Given the description of an element on the screen output the (x, y) to click on. 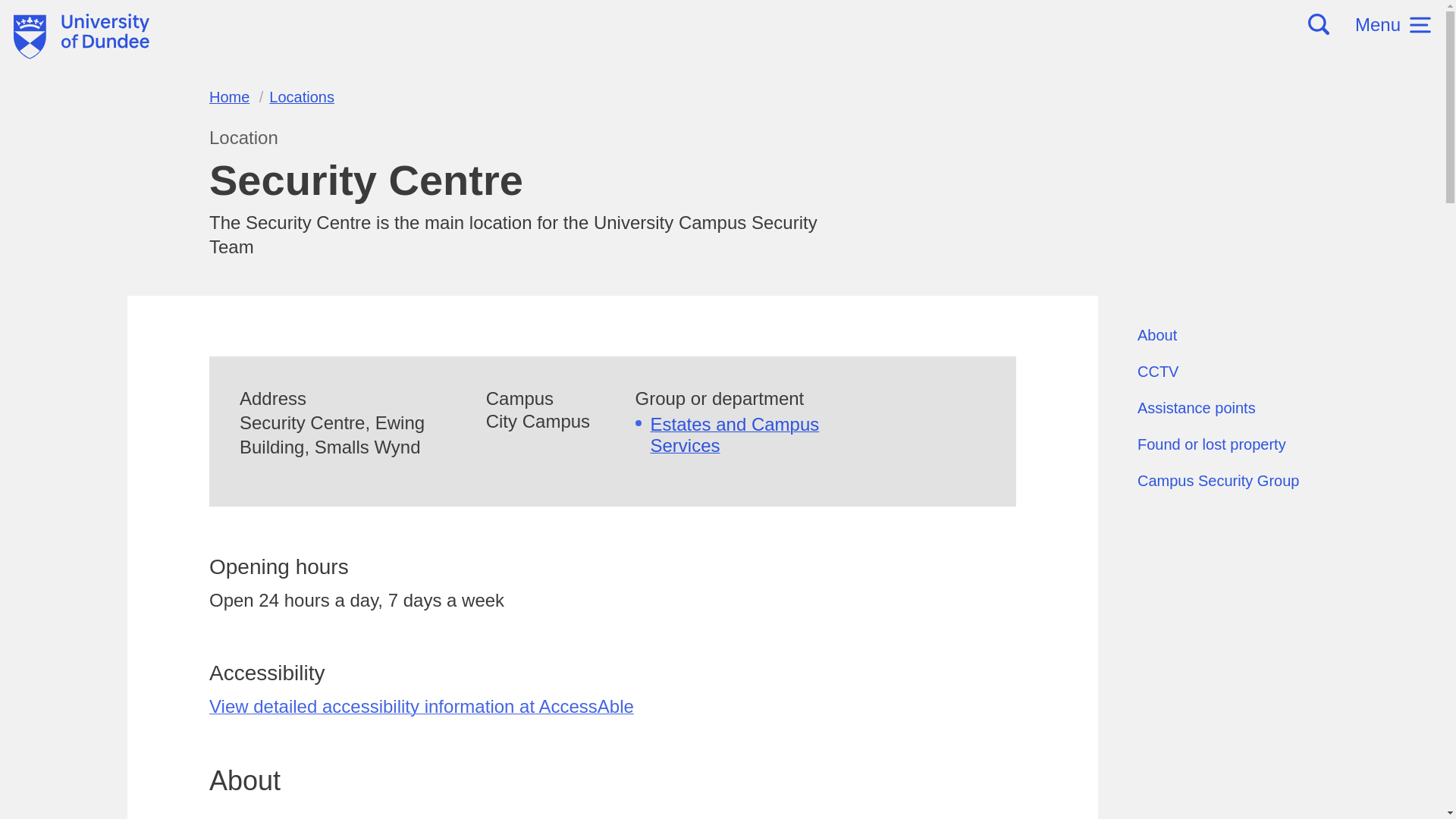
University of Dundee (81, 35)
Menu (1393, 24)
